Given the description of an element on the screen output the (x, y) to click on. 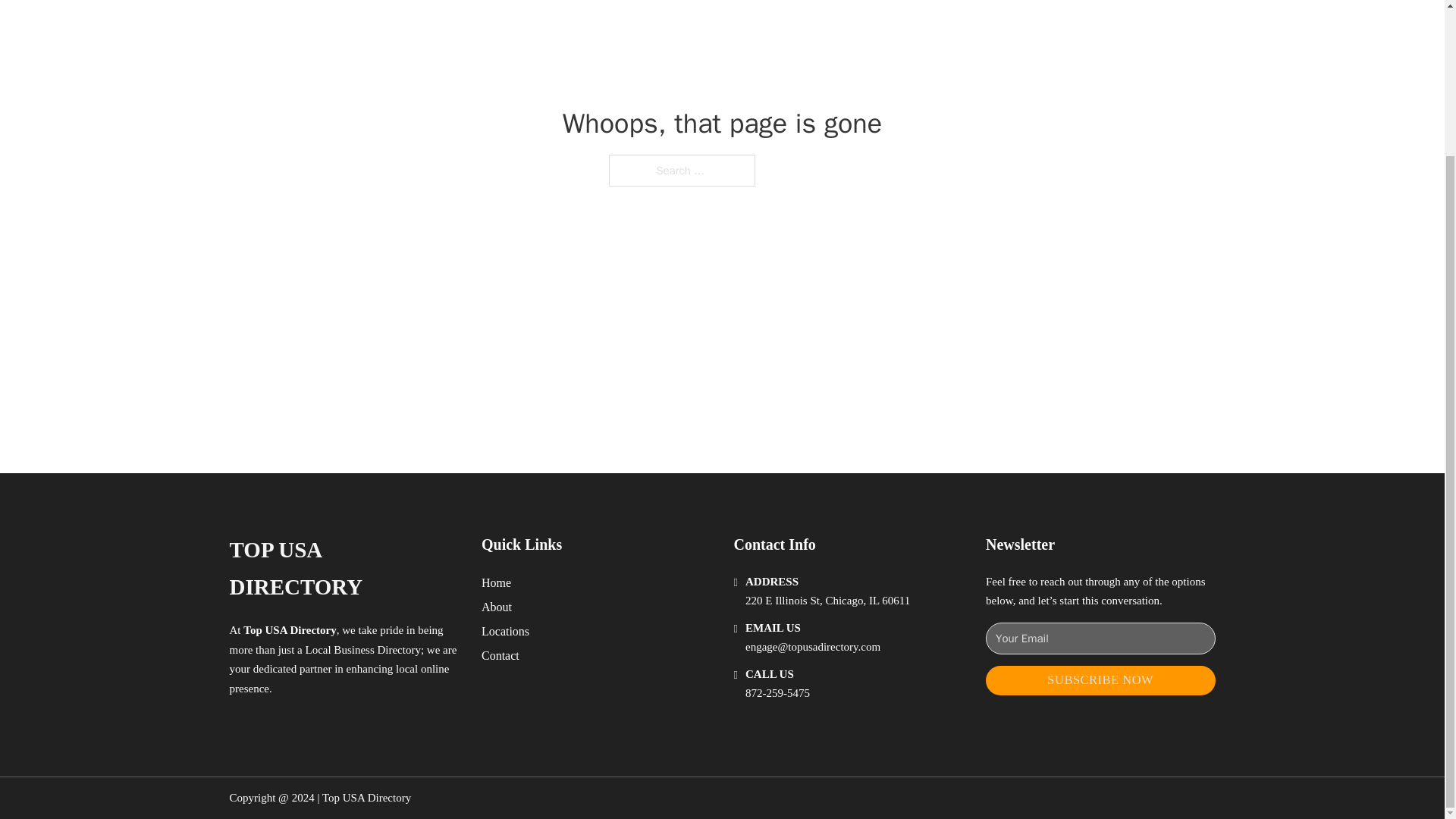
About (496, 607)
Contact (500, 655)
TOP USA DIRECTORY (343, 568)
SUBSCRIBE NOW (1100, 680)
872-259-5475 (777, 693)
Home (496, 582)
Locations (505, 630)
